Given the description of an element on the screen output the (x, y) to click on. 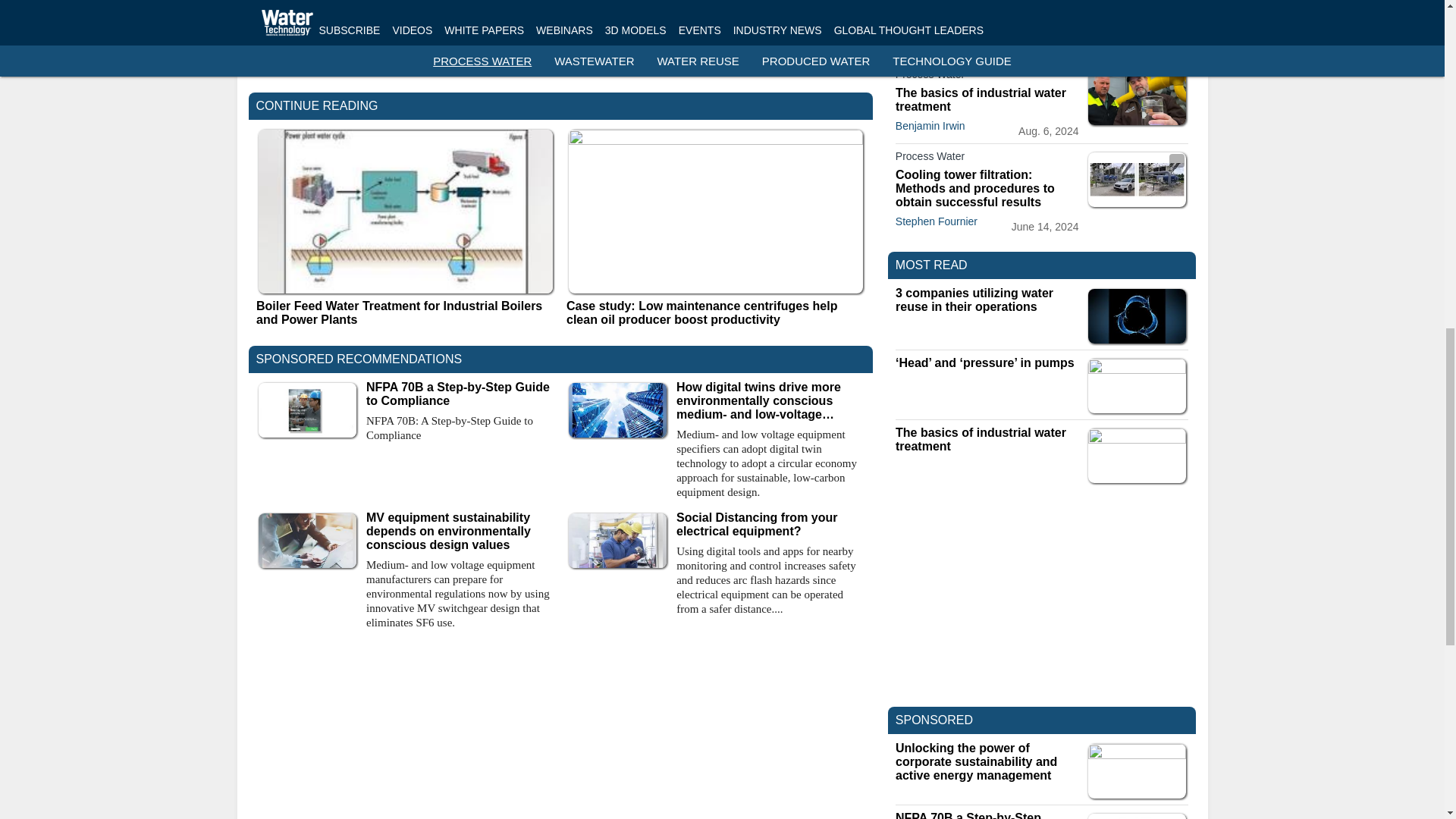
The basics of industrial water treatment (986, 99)
LATEST IN PROCESS WATER (979, 46)
NFPA 70B a Step-by-Step Guide to Compliance (459, 393)
Process Water (986, 76)
Social Distancing from your electrical equipment? (770, 524)
